Given the description of an element on the screen output the (x, y) to click on. 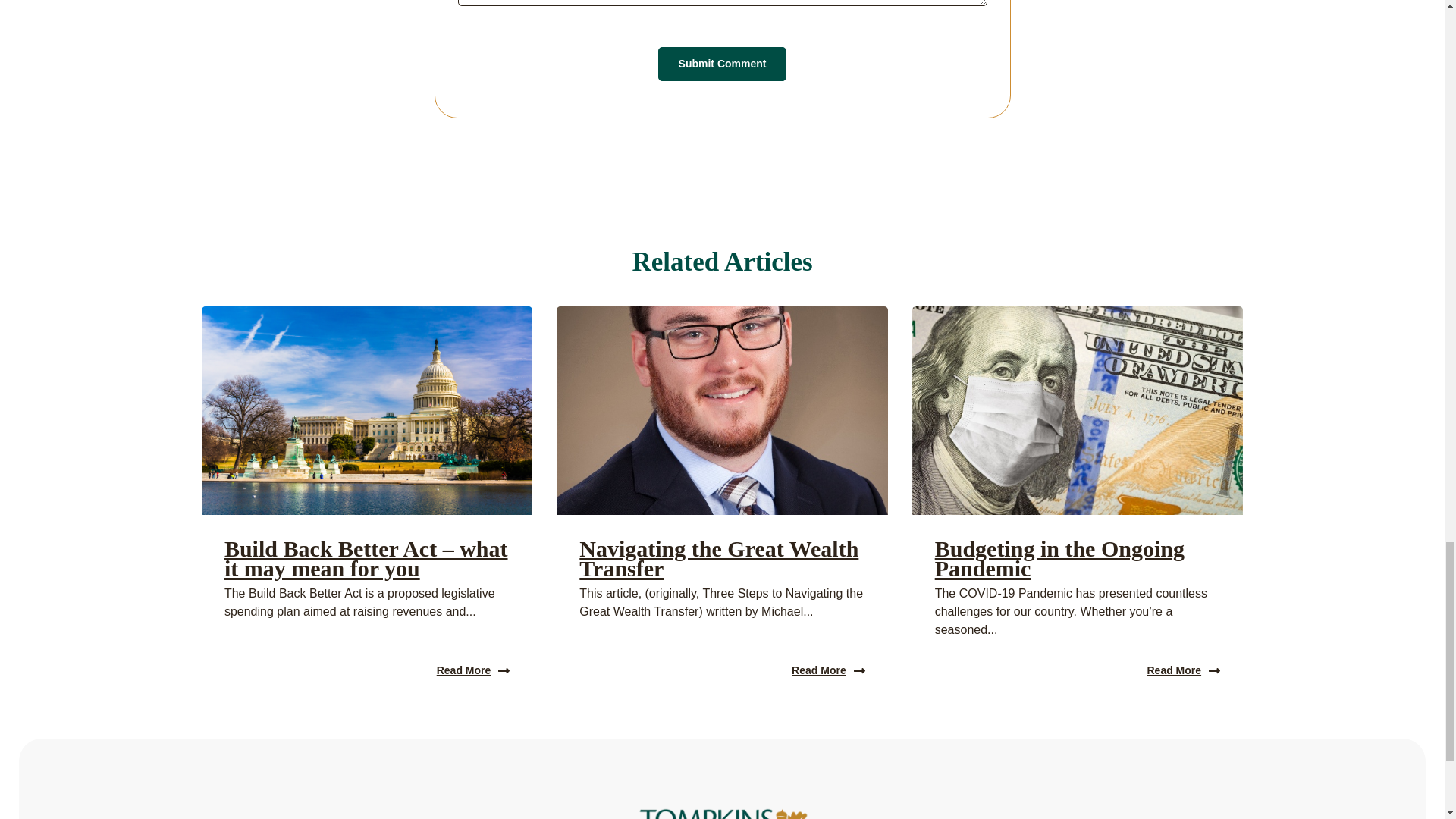
Submit Comment (722, 63)
Budgeting in the Ongoing Pandemic (1059, 558)
Submit Comment (722, 63)
Read More (1183, 670)
Read More (473, 670)
Read More (828, 670)
Navigating the Great Wealth Transfer (719, 558)
